Given the description of an element on the screen output the (x, y) to click on. 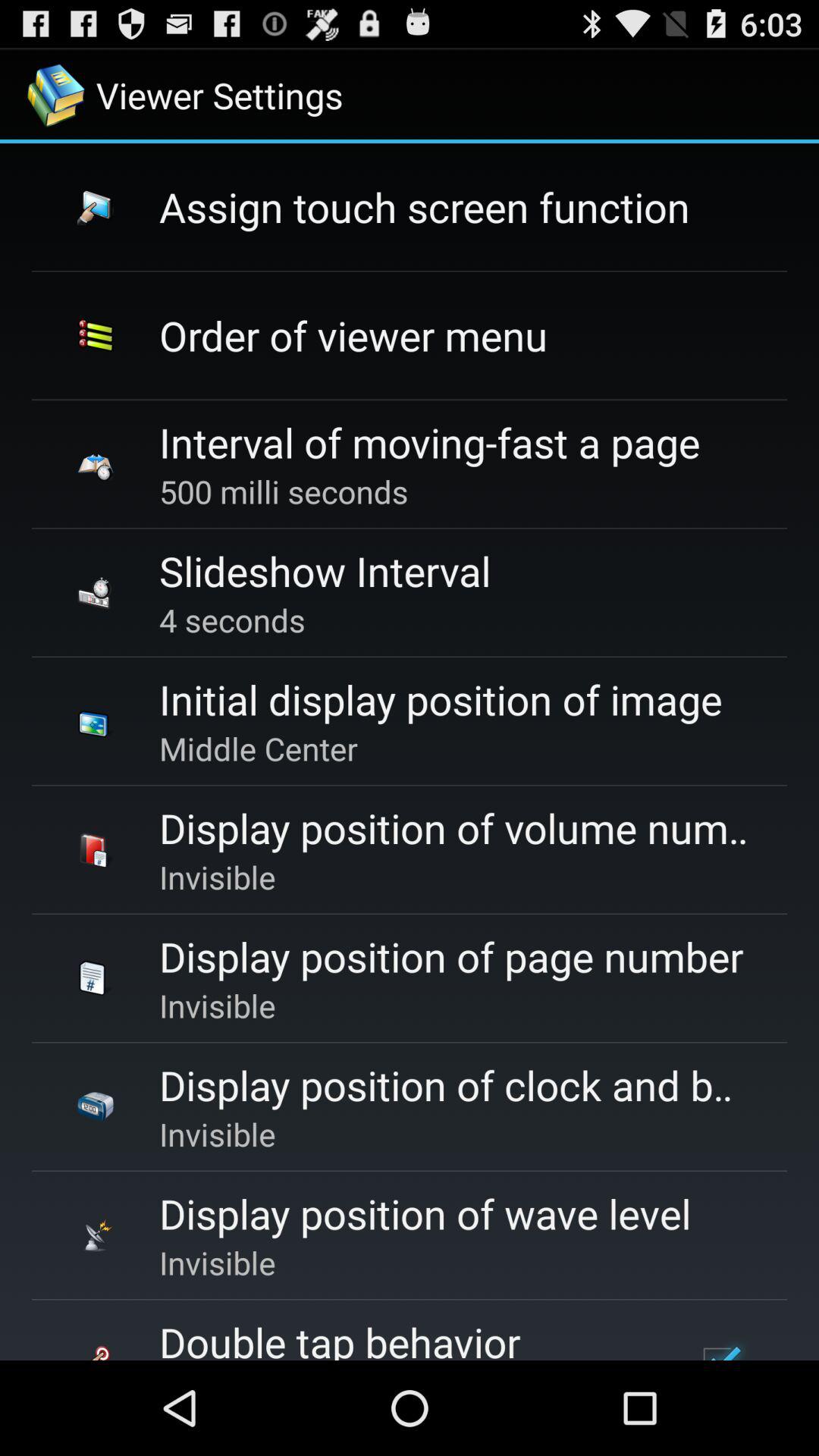
swipe to the 500 milli seconds (283, 491)
